Given the description of an element on the screen output the (x, y) to click on. 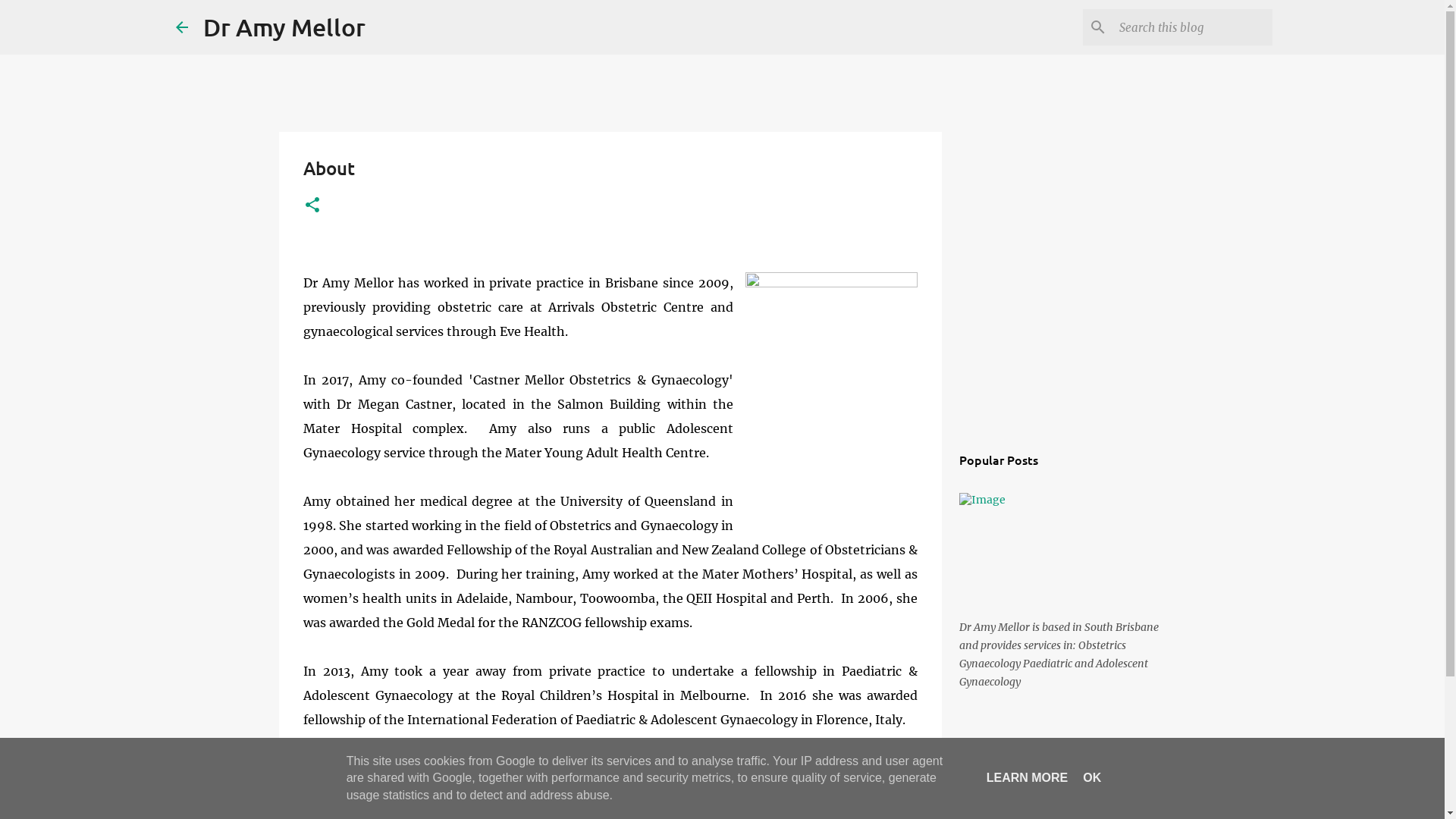
OK Element type: text (1091, 777)
Dr Amy Mellor Element type: text (284, 26)
LEARN MORE Element type: text (1027, 777)
